Given the description of an element on the screen output the (x, y) to click on. 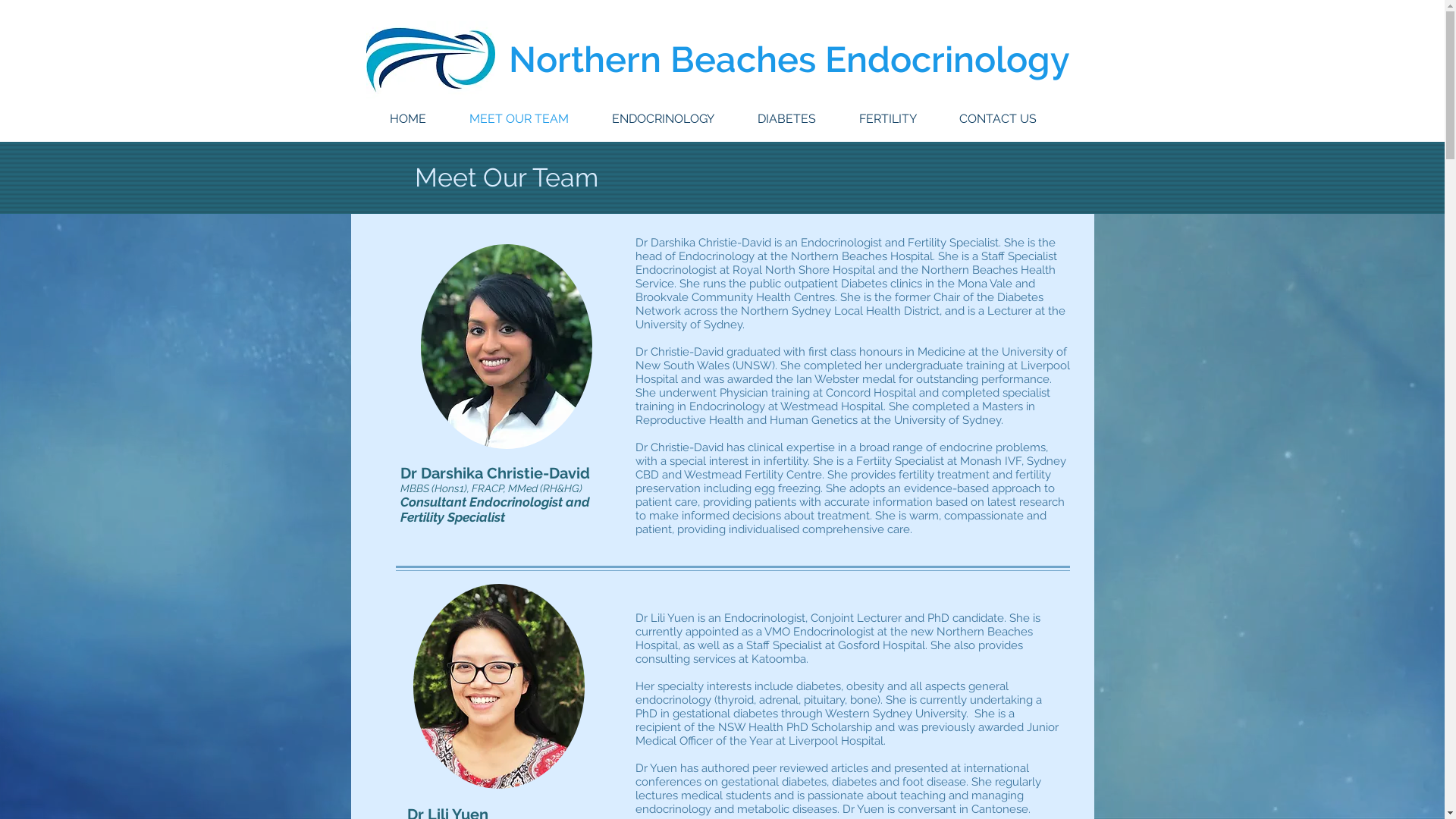
MEET OUR TEAM Element type: text (518, 118)
HOME Element type: text (408, 118)
DIABETES Element type: text (786, 118)
CONTACT US Element type: text (997, 118)
FERTILITY Element type: text (887, 118)
Northern Beaches Endocrinology Element type: text (788, 59)
ENDOCRINOLOGY Element type: text (662, 118)
